Given the description of an element on the screen output the (x, y) to click on. 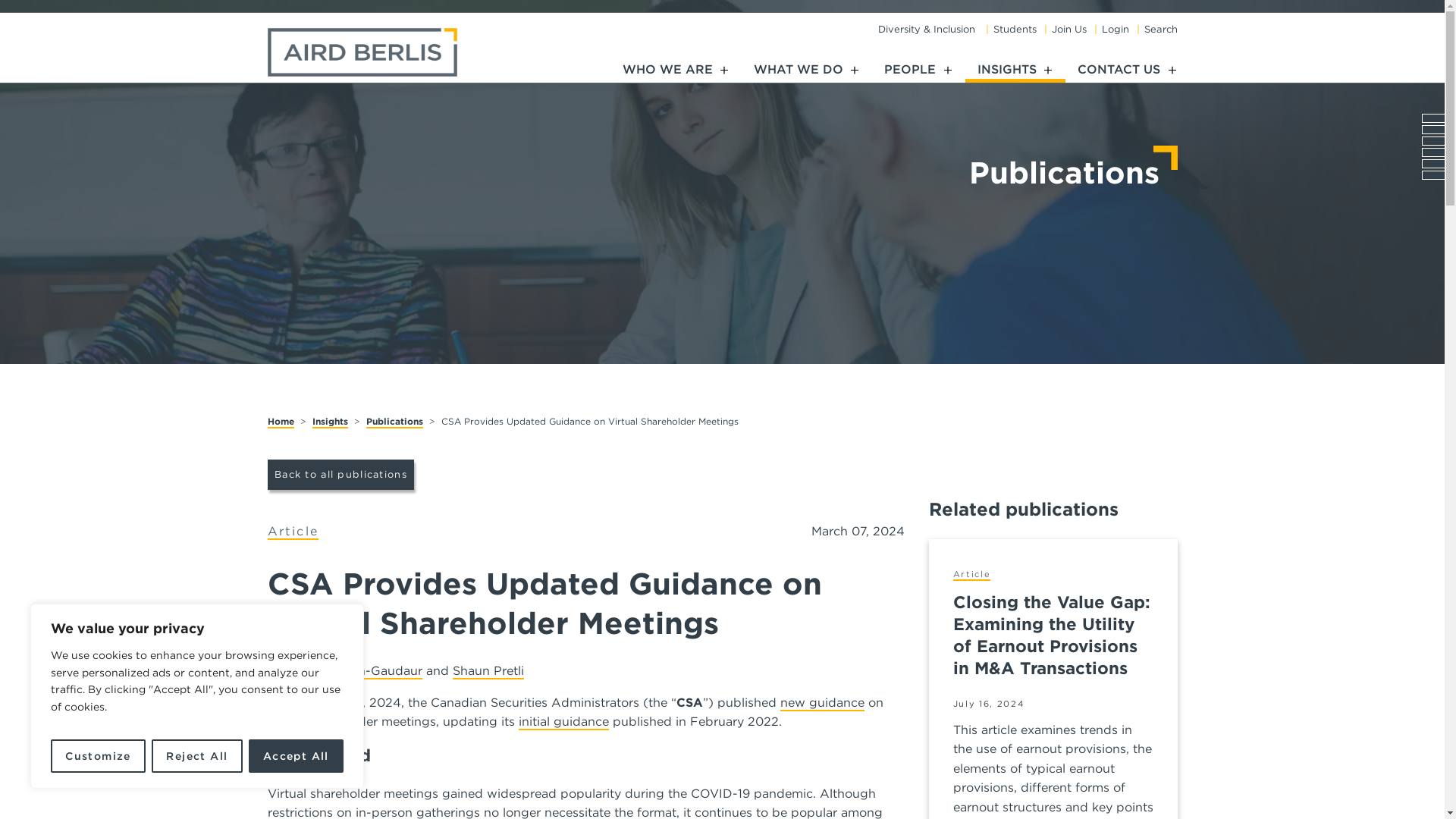
Customize (97, 756)
Reject All (196, 756)
Accept All (295, 756)
